Given the description of an element on the screen output the (x, y) to click on. 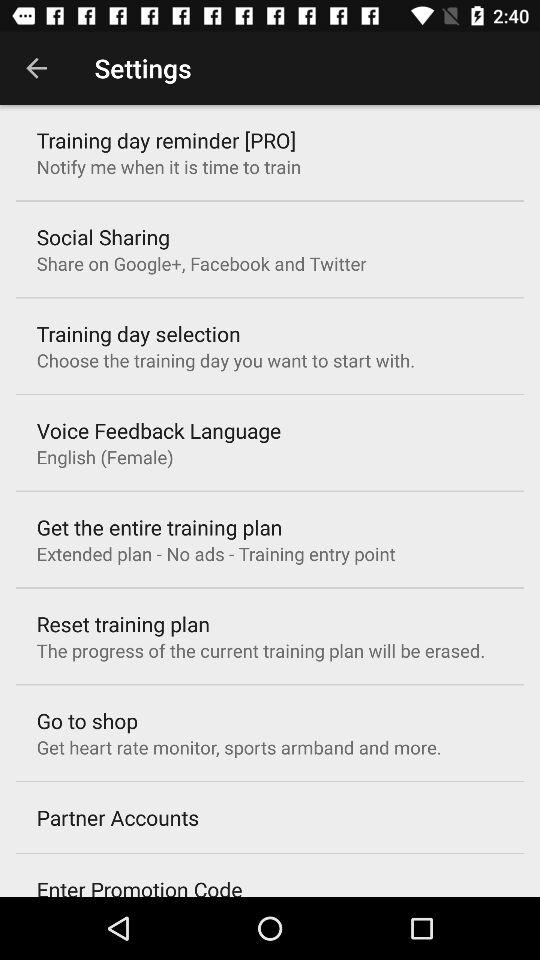
launch the icon above partner accounts (238, 747)
